Given the description of an element on the screen output the (x, y) to click on. 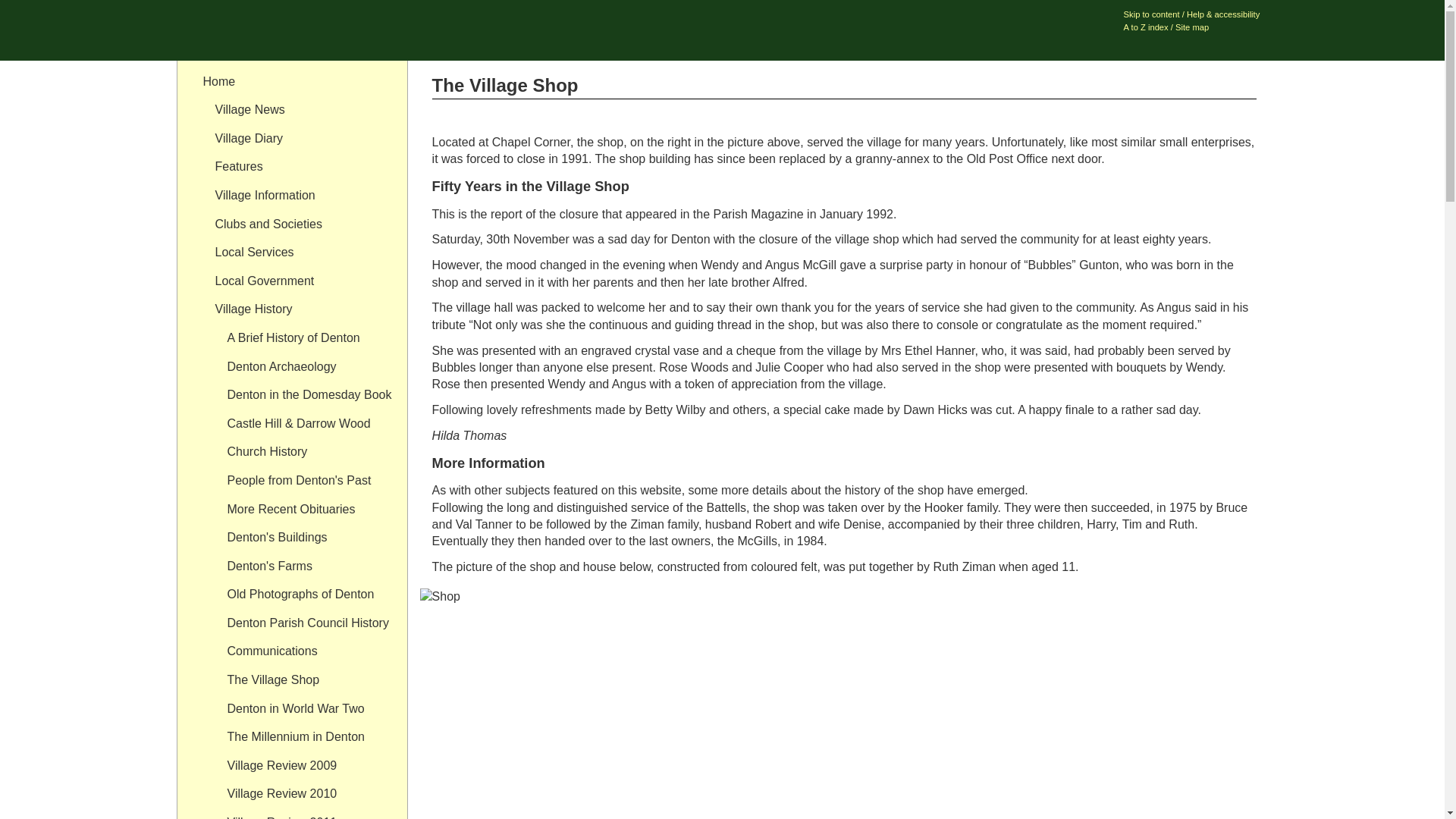
Site map (1191, 26)
Local Government (298, 280)
More Recent Obituaries (304, 509)
Village History (298, 308)
Features (298, 166)
Village News (298, 109)
Skip to content (1151, 13)
A to Z index (1146, 26)
People from Denton's Past (304, 480)
A Brief History of Denton (304, 338)
